Given the description of an element on the screen output the (x, y) to click on. 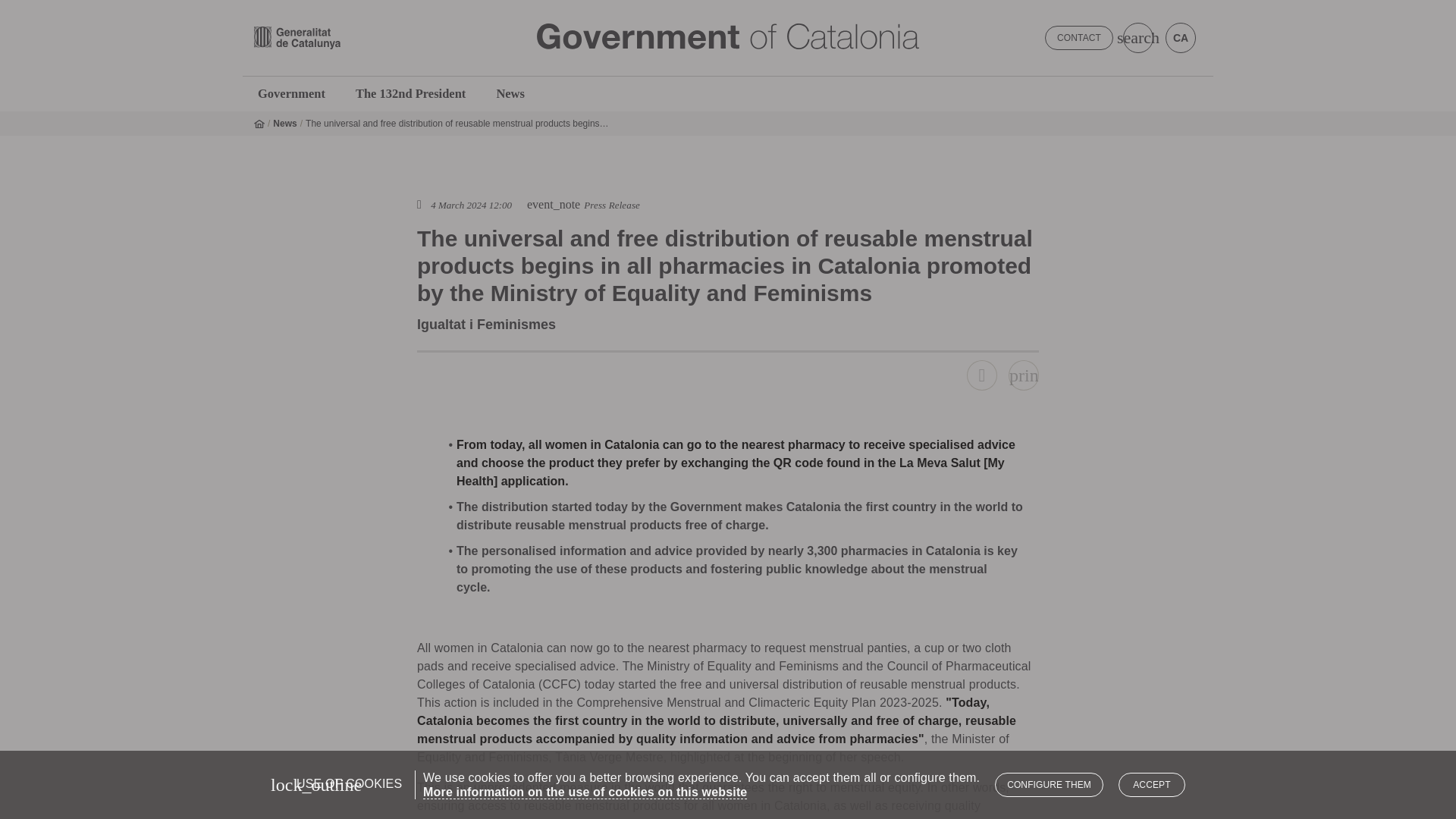
search (1137, 37)
The 132nd President (410, 93)
News (509, 93)
Catalan Government (727, 36)
Government (291, 93)
Escut de la Generalitat de Catalunya (296, 37)
CONTACT (1079, 37)
CA (1180, 37)
News (285, 122)
web gencat (383, 37)
